Given the description of an element on the screen output the (x, y) to click on. 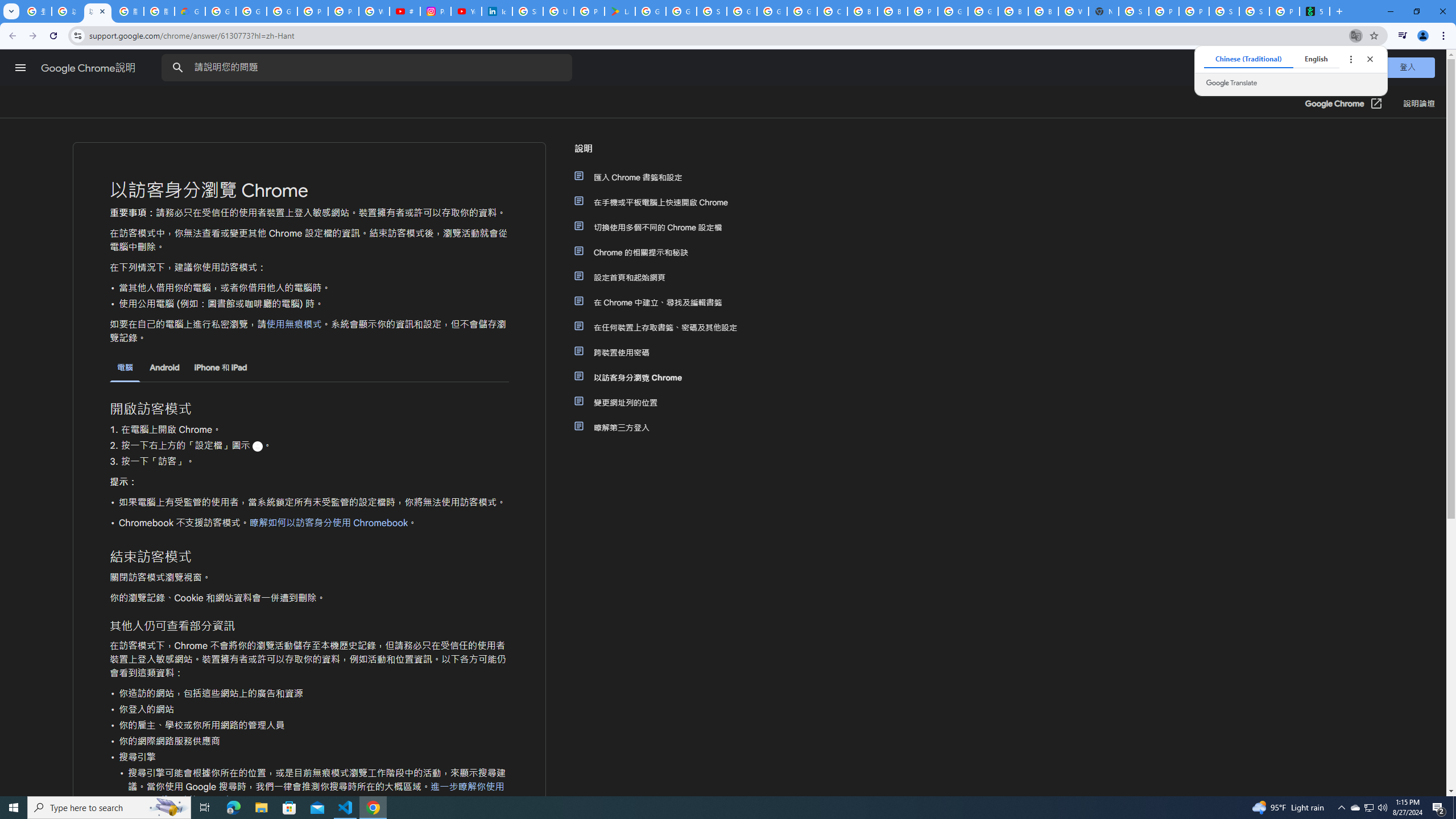
Privacy Help Center - Policies Help (343, 11)
Browse Chrome as a guest - Computer - Google Chrome Help (862, 11)
New Tab (1103, 11)
Google Cloud Platform (952, 11)
Sign in - Google Accounts (1133, 11)
Sign in - Google Accounts (527, 11)
